Given the description of an element on the screen output the (x, y) to click on. 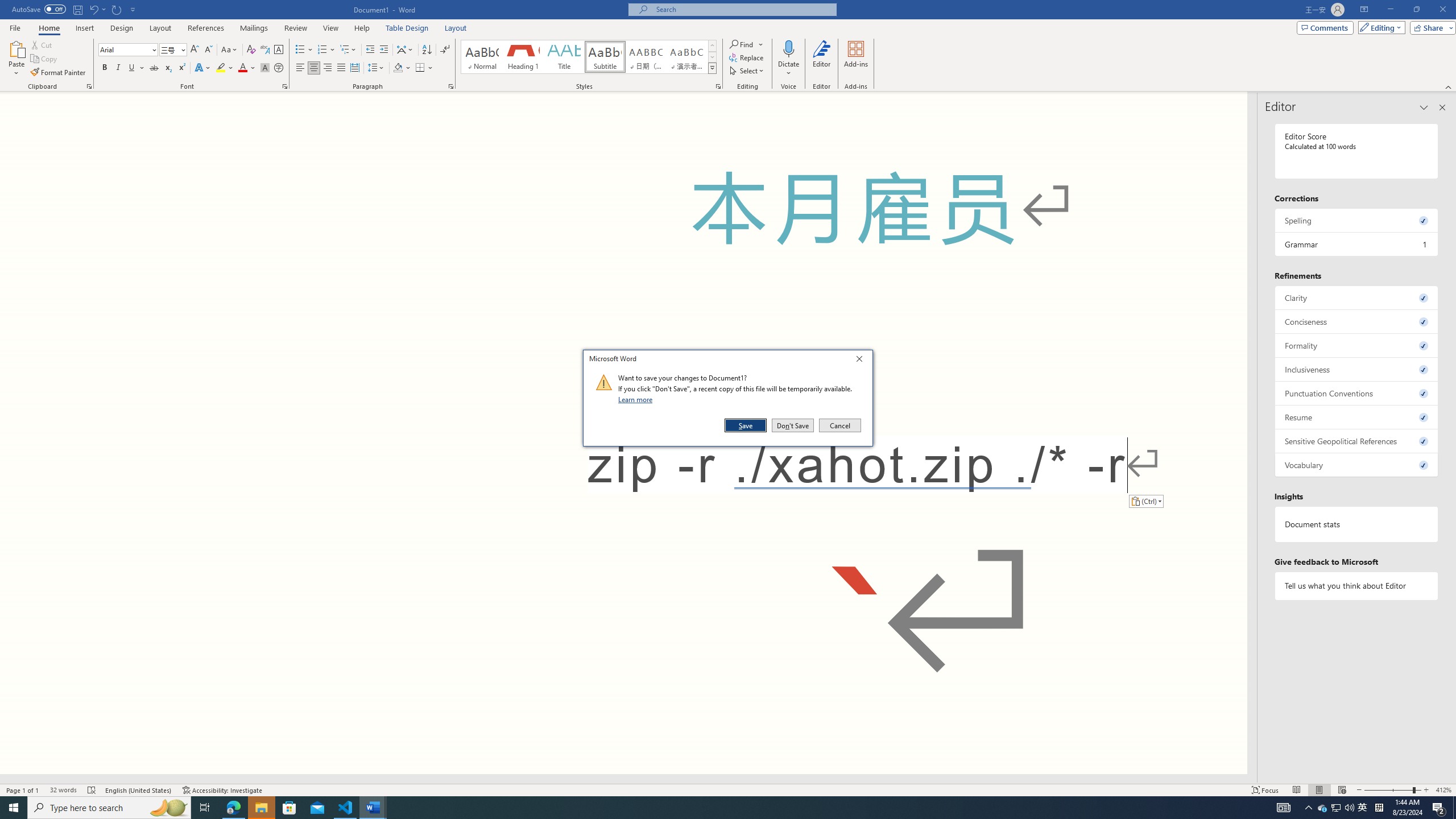
Vocabulary, 0 issues. Press space or enter to review items. (1356, 464)
Undo Paste (96, 9)
Grammar, 1 issue. Press space or enter to review items. (1356, 243)
